Given the description of an element on the screen output the (x, y) to click on. 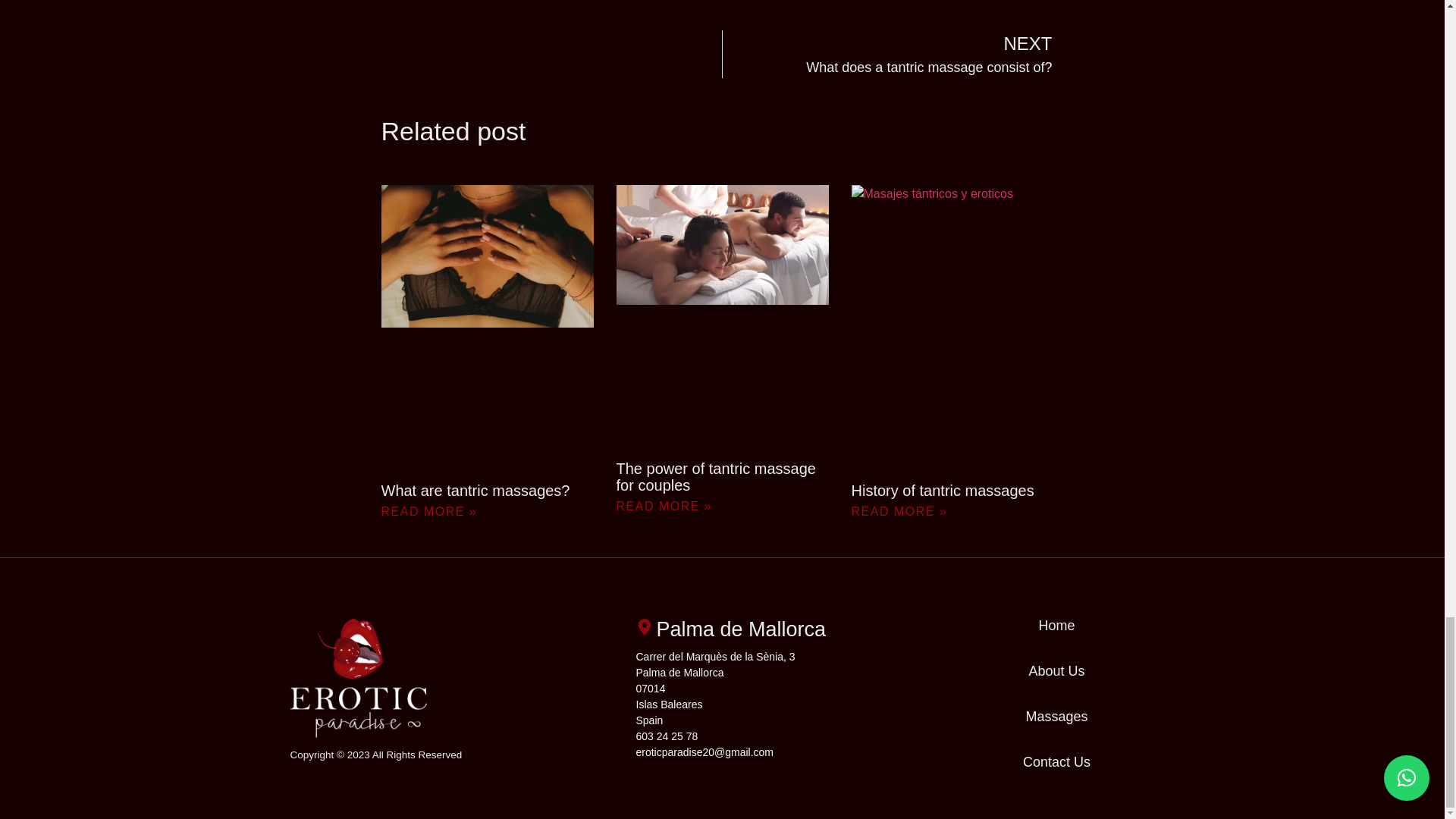
The power of tantric massage for couples (715, 476)
What are tantric massages? (474, 490)
